Given the description of an element on the screen output the (x, y) to click on. 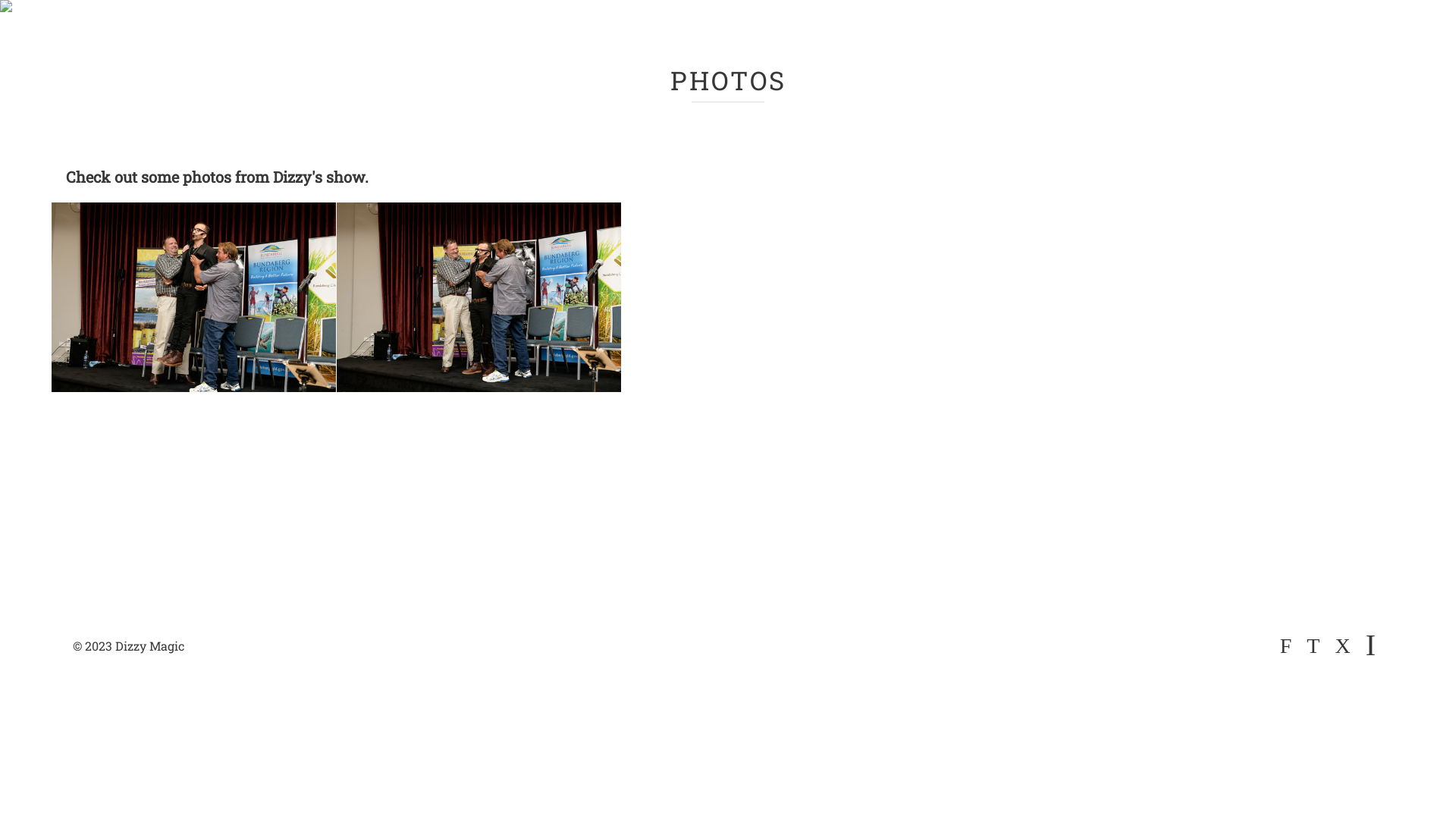
I Element type: text (1370, 645)
F Element type: text (1286, 645)
Photos Element type: text (1251, 41)
About Element type: text (712, 41)
Blog Element type: text (1174, 41)
Corporate Element type: text (1087, 41)
0408 716 568 Element type: text (108, 37)
Shows Element type: text (994, 41)
Testimonials Element type: text (814, 41)
Contact Element type: text (1287, 105)
T Element type: text (1312, 645)
X Element type: text (1341, 645)
Home Element type: text (633, 41)
Hypnotherapy Element type: text (1359, 41)
Can You Be Hypnotised? Element type: text (1143, 105)
Press Element type: text (914, 41)
Sitemap Element type: text (1379, 105)
